Given the description of an element on the screen output the (x, y) to click on. 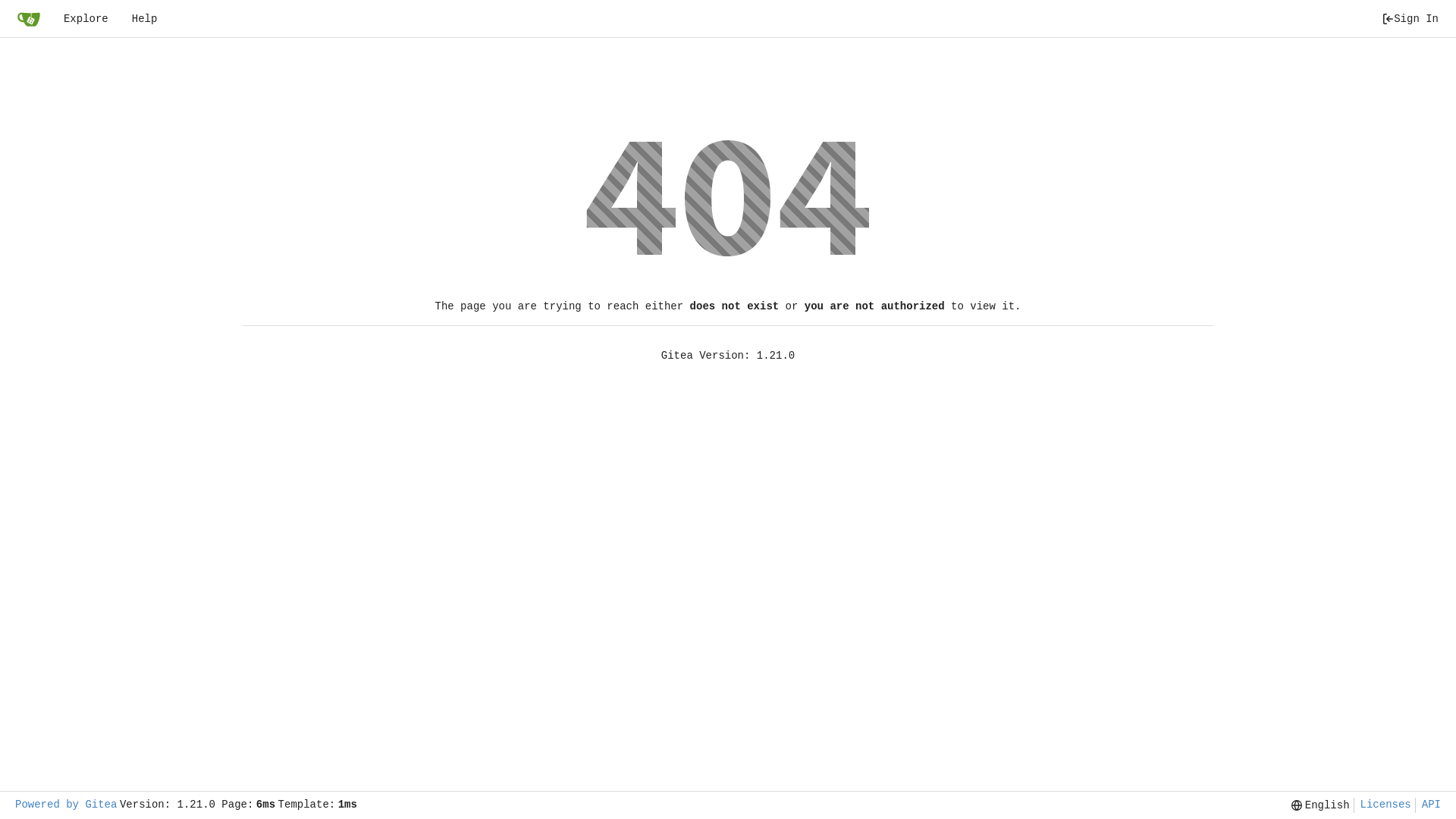
Explore Element type: text (85, 17)
Help Element type: text (144, 17)
Sign In Element type: text (1409, 17)
Licenses Element type: text (1382, 804)
API Element type: text (1427, 804)
Powered by Gitea Element type: text (65, 804)
